Given the description of an element on the screen output the (x, y) to click on. 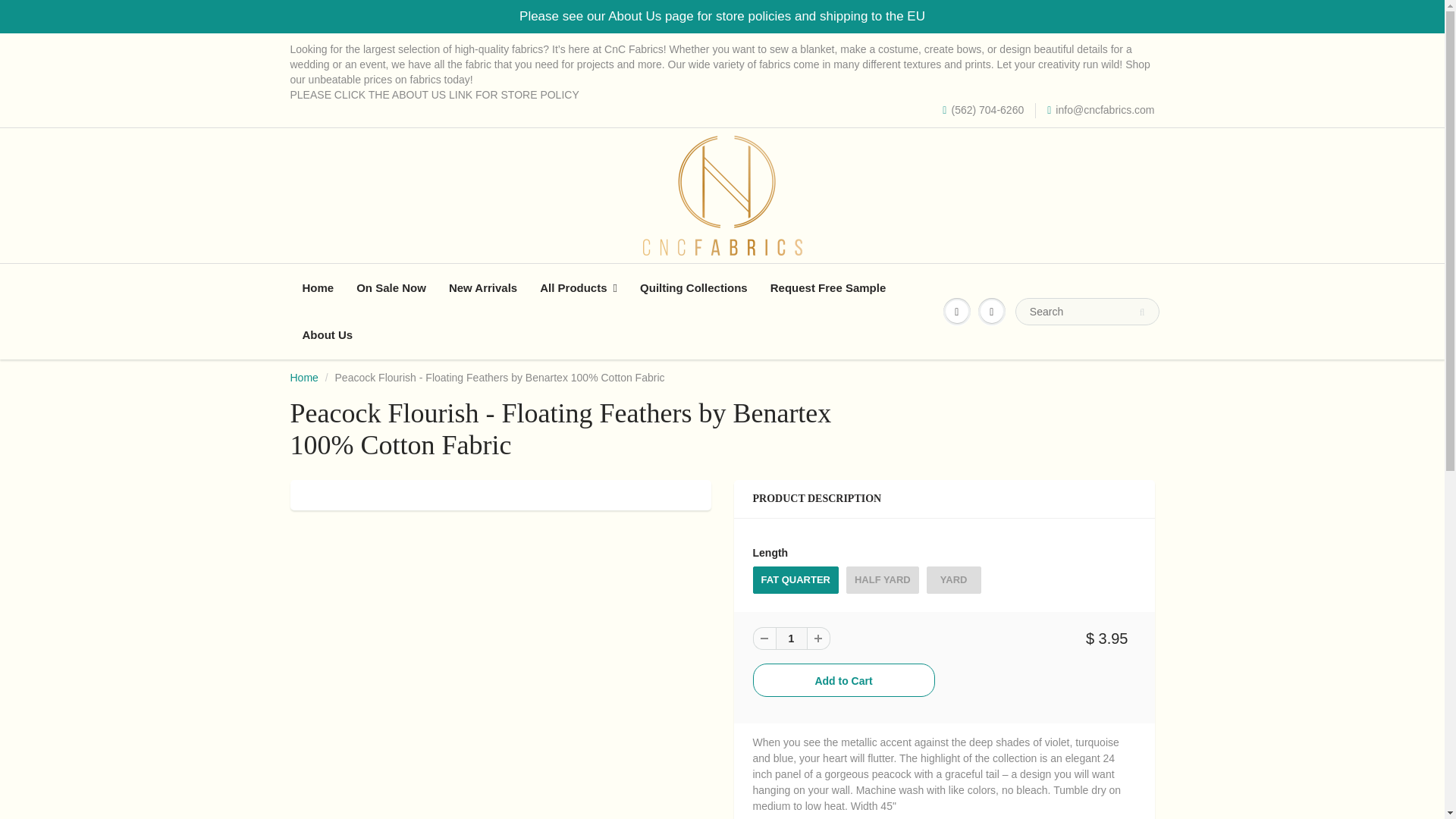
Home (318, 288)
Home (303, 377)
All Products (578, 288)
New Arrivals (483, 288)
1 (790, 638)
Add to Cart (843, 679)
On Sale Now (391, 288)
